Given the description of an element on the screen output the (x, y) to click on. 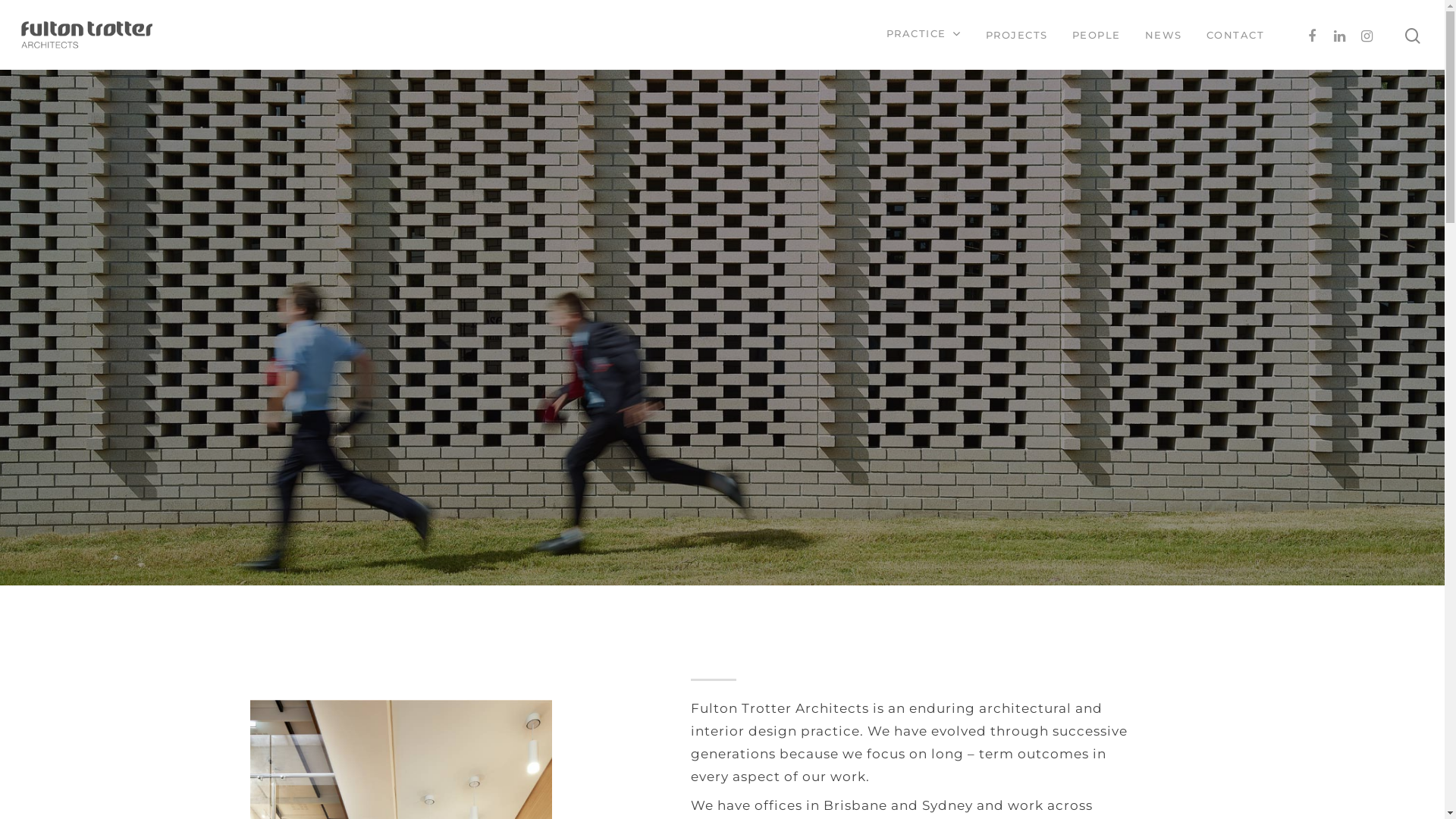
NEWS Element type: text (1163, 35)
PEOPLE Element type: text (1096, 35)
PRACTICE Element type: text (922, 34)
CONTACT Element type: text (1234, 35)
PROJECTS Element type: text (1016, 35)
